Given the description of an element on the screen output the (x, y) to click on. 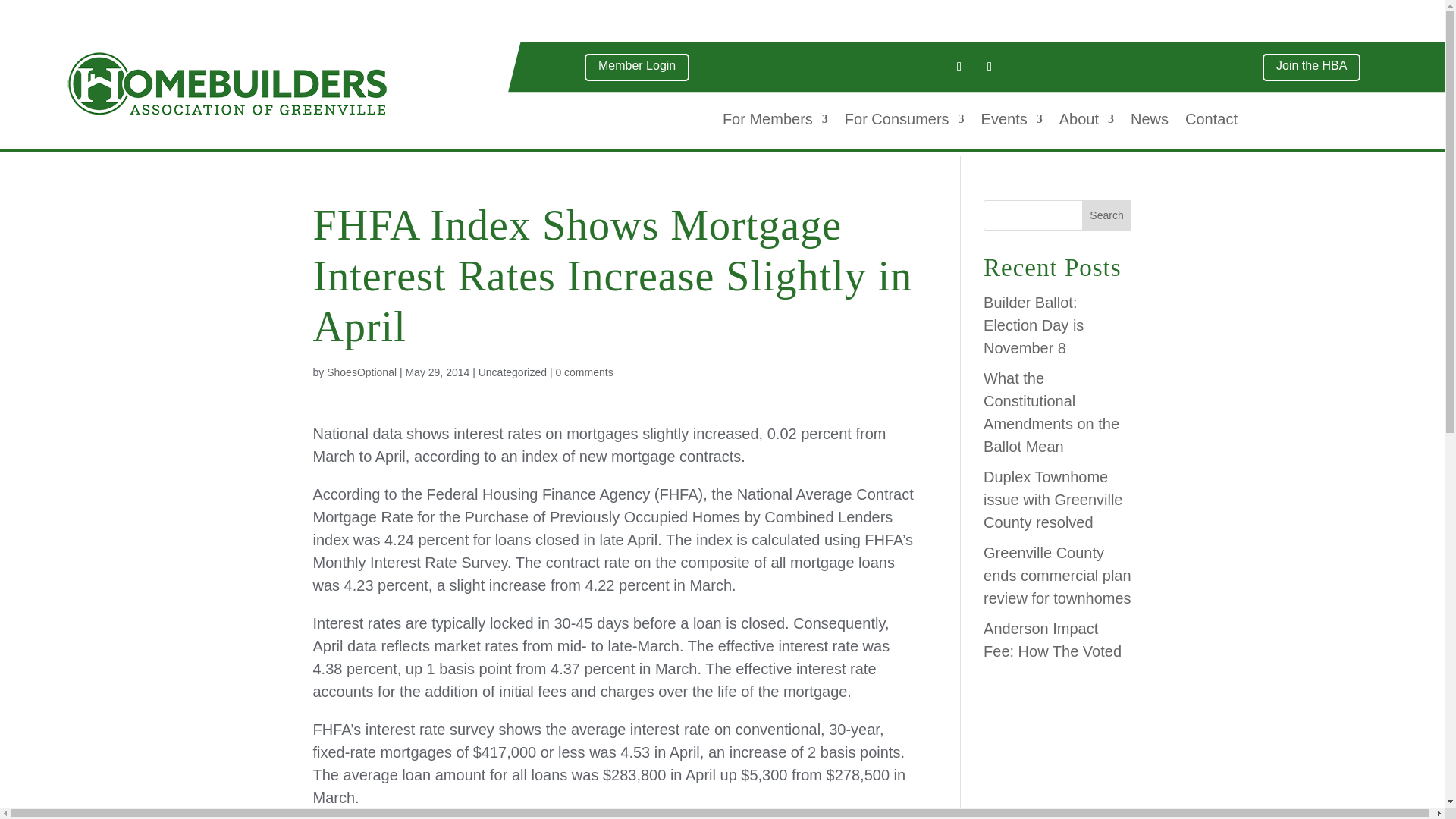
Follow on Instagram (988, 66)
About (1086, 121)
Search (1106, 214)
Follow on Facebook (959, 66)
For Consumers (903, 121)
Member Login (636, 67)
Posts by ShoesOptional (361, 372)
For Members (775, 121)
News (1150, 121)
Contact (1211, 121)
Events (1011, 121)
Join the HBA (1310, 67)
HBAG-Logo-Color-Web-Nav (226, 82)
